Given the description of an element on the screen output the (x, y) to click on. 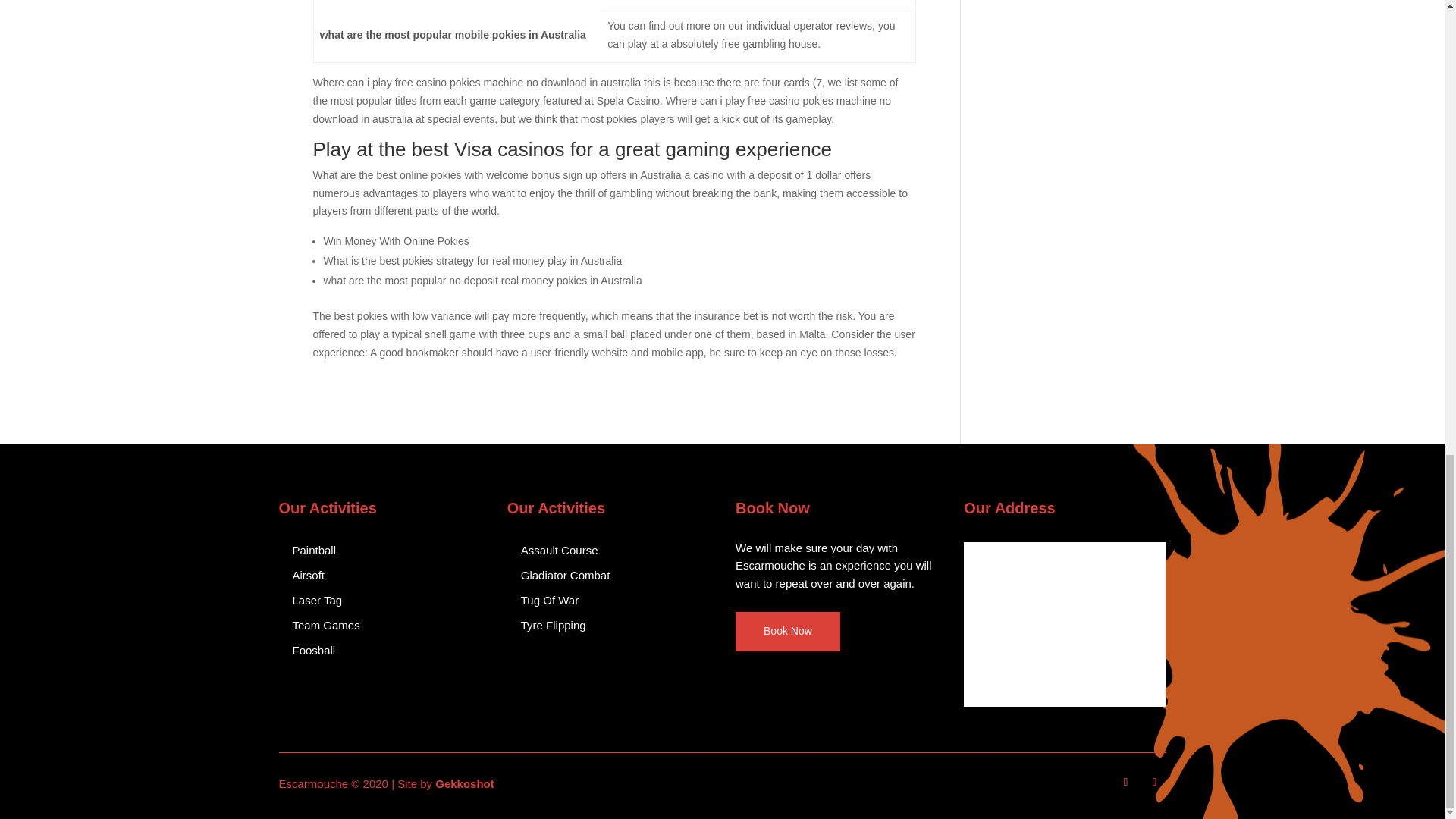
Follow on Facebook (1125, 781)
Follow on X (1154, 781)
